Given the description of an element on the screen output the (x, y) to click on. 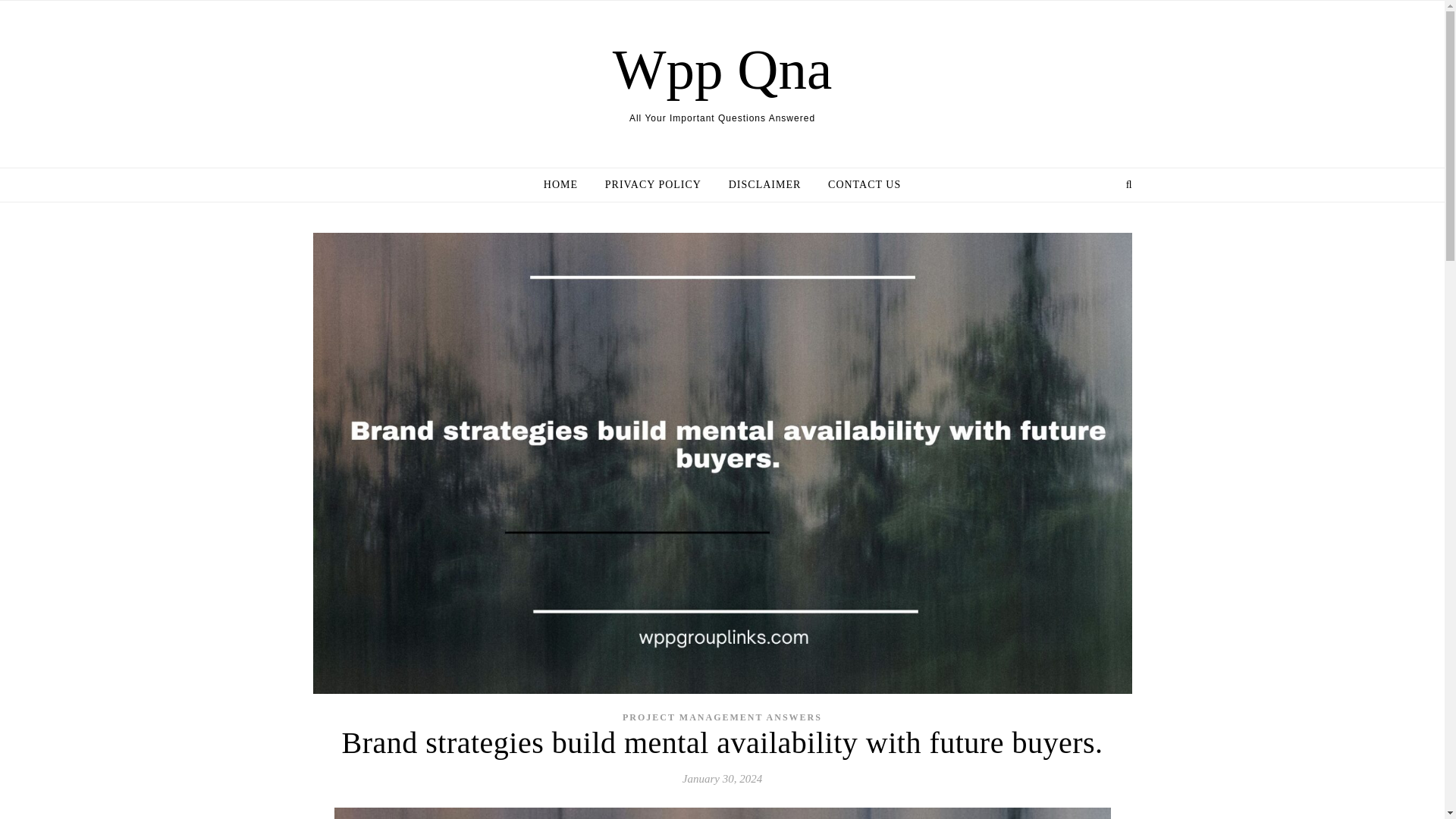
HOME (566, 184)
PROJECT MANAGEMENT ANSWERS (722, 716)
Wpp Qna (722, 68)
PRIVACY POLICY (652, 184)
CONTACT US (858, 184)
DISCLAIMER (764, 184)
